Given the description of an element on the screen output the (x, y) to click on. 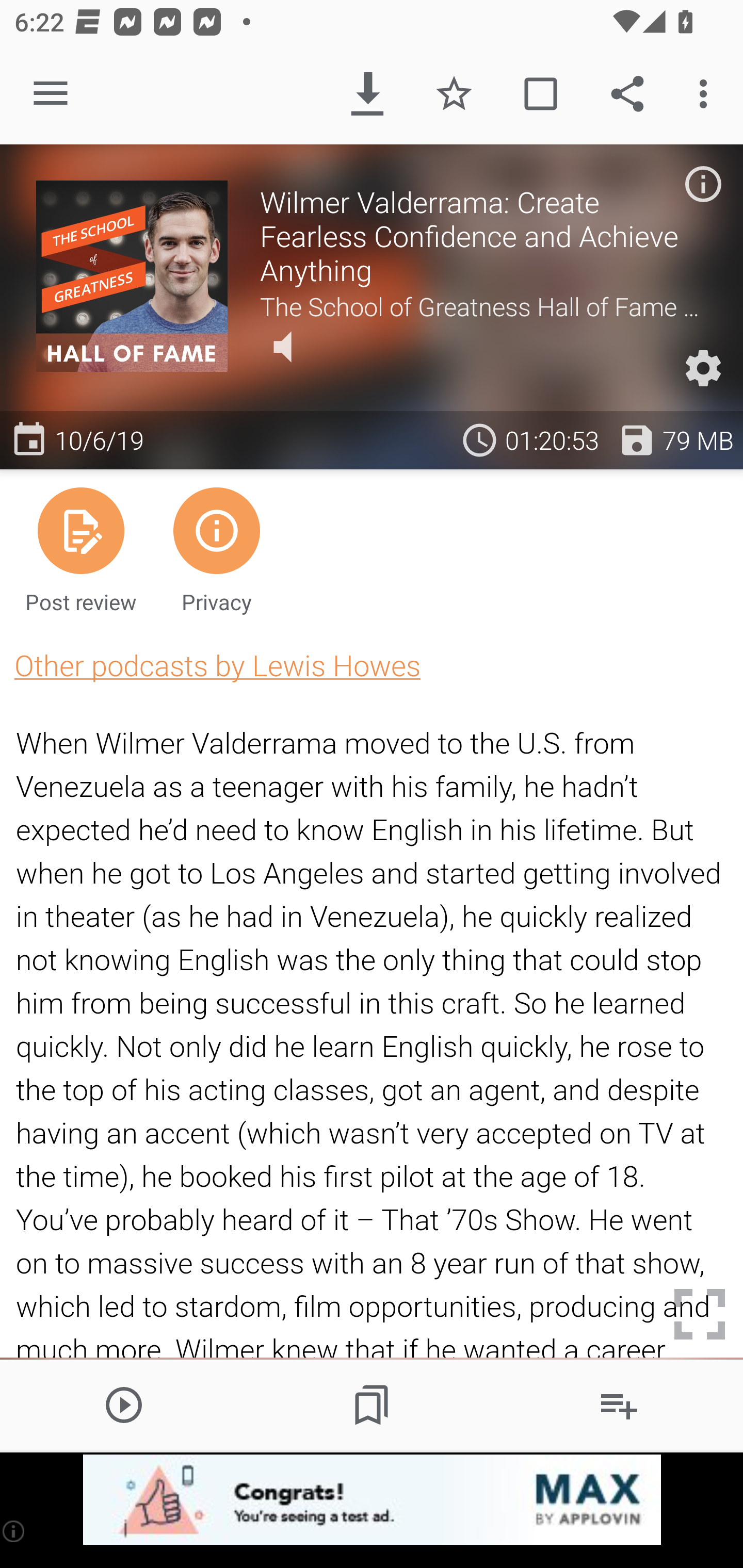
Open navigation sidebar (50, 93)
Download (366, 93)
Favorite (453, 93)
Mark played / unplayed (540, 93)
Share (626, 93)
More options (706, 93)
Podcast description (703, 184)
Custom Settings (703, 368)
Post review (81, 549)
Privacy (216, 549)
Other podcasts by Lewis Howes (217, 665)
Toggle full screen mode (699, 1314)
Play (123, 1404)
Chapters / Bookmarks (371, 1404)
Add to Playlist (619, 1404)
app-monetization (371, 1500)
(i) (14, 1531)
